Given the description of an element on the screen output the (x, y) to click on. 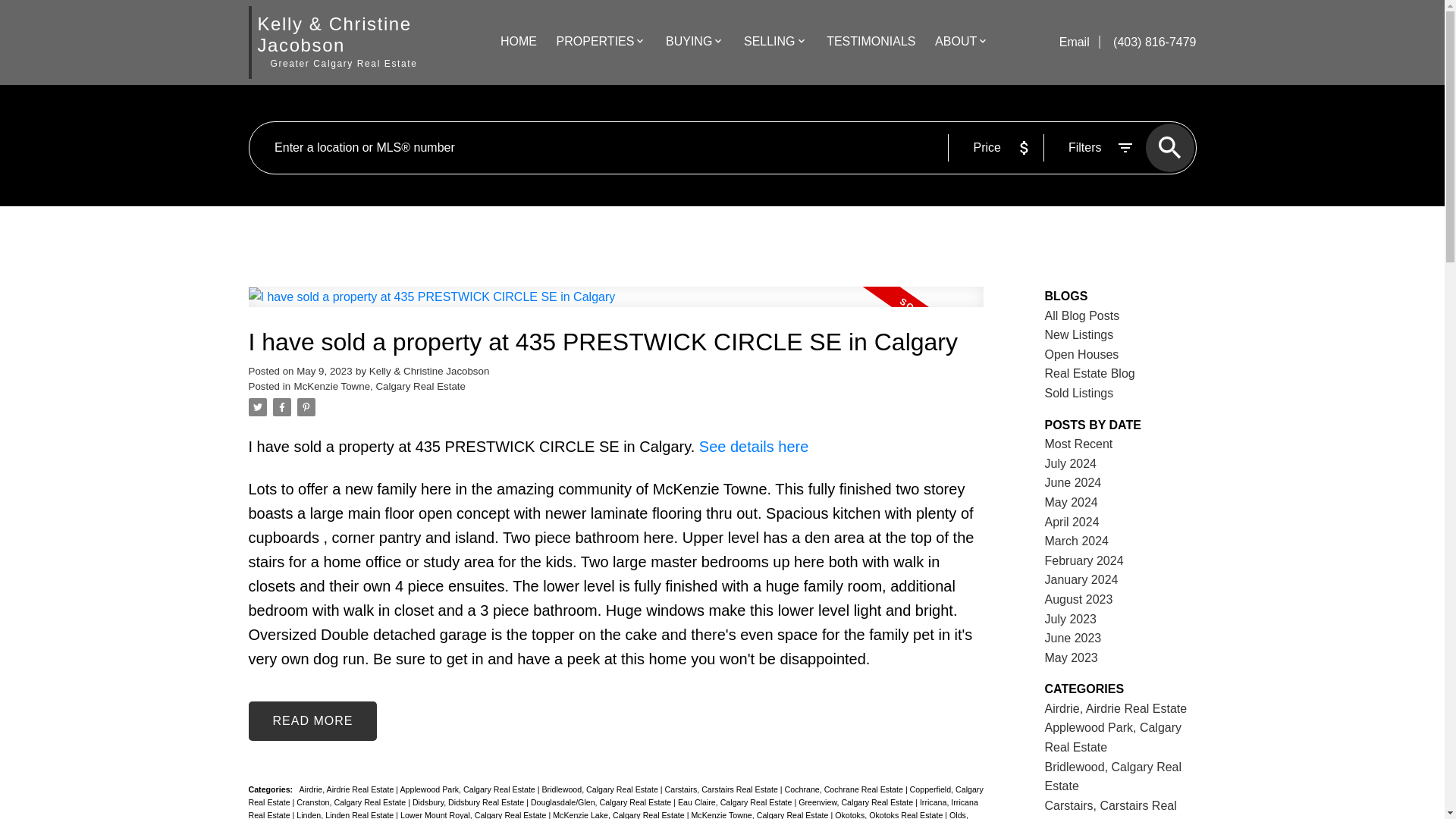
HOME (518, 42)
Email (1076, 42)
Airdrie, Airdrie Real Estate (347, 788)
Read full post (616, 305)
See details here (753, 446)
Applewood Park, Calgary Real Estate (468, 788)
McKenzie Towne, Calgary Real Estate (379, 386)
I have sold a property at 435 PRESTWICK CIRCLE SE in Calgary (616, 342)
Eau Claire, Calgary Real Estate (735, 801)
Bridlewood, Calgary Real Estate (600, 788)
